Given the description of an element on the screen output the (x, y) to click on. 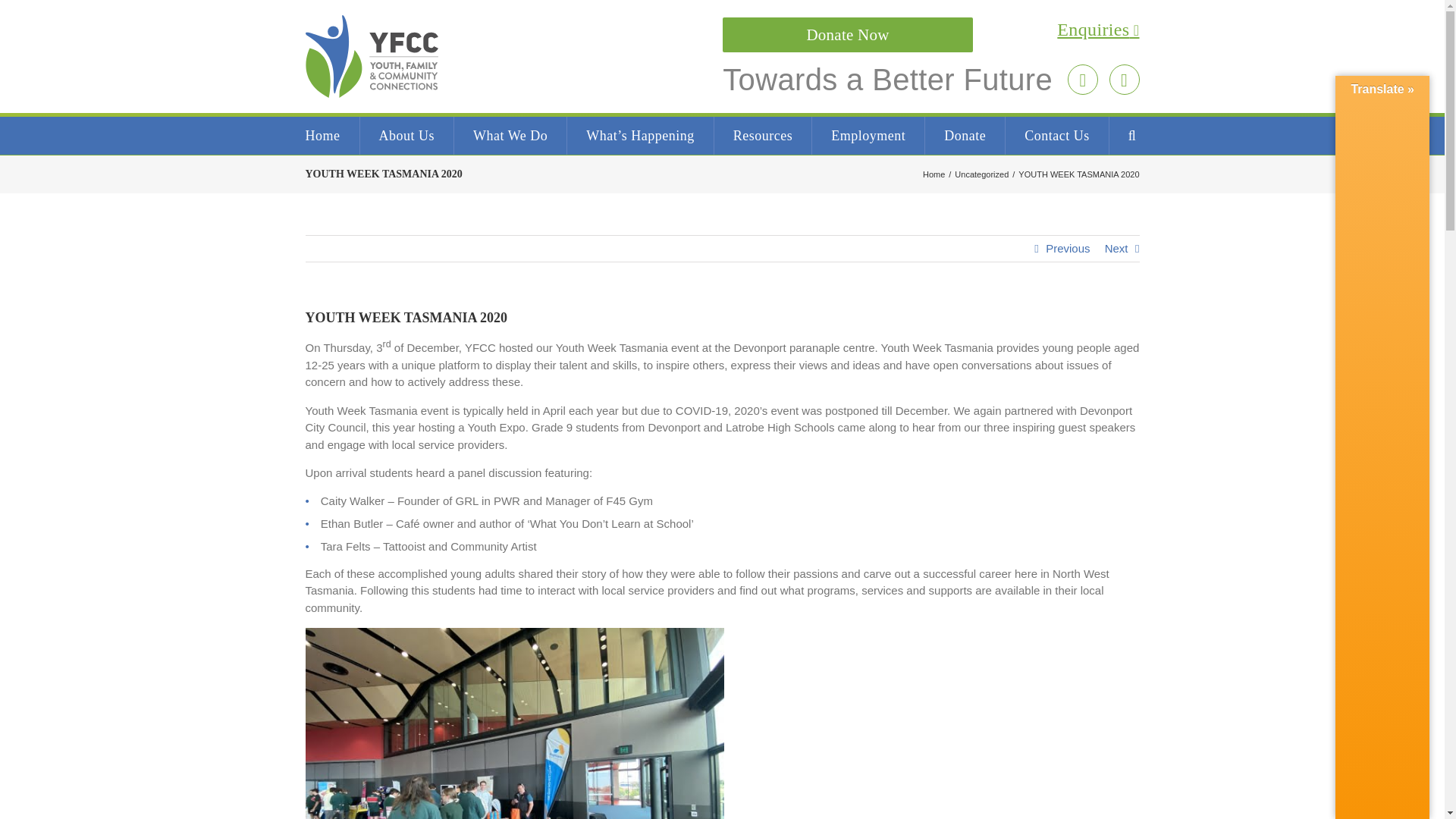
Donate (964, 135)
Follow us on Instagram (1082, 79)
What We Do (510, 135)
Make a Donation (847, 34)
Like us on Facebook (1123, 79)
Uncategorized (982, 174)
Home (321, 135)
Donate Now (847, 34)
Enquiries (930, 30)
Home (933, 174)
